Given the description of an element on the screen output the (x, y) to click on. 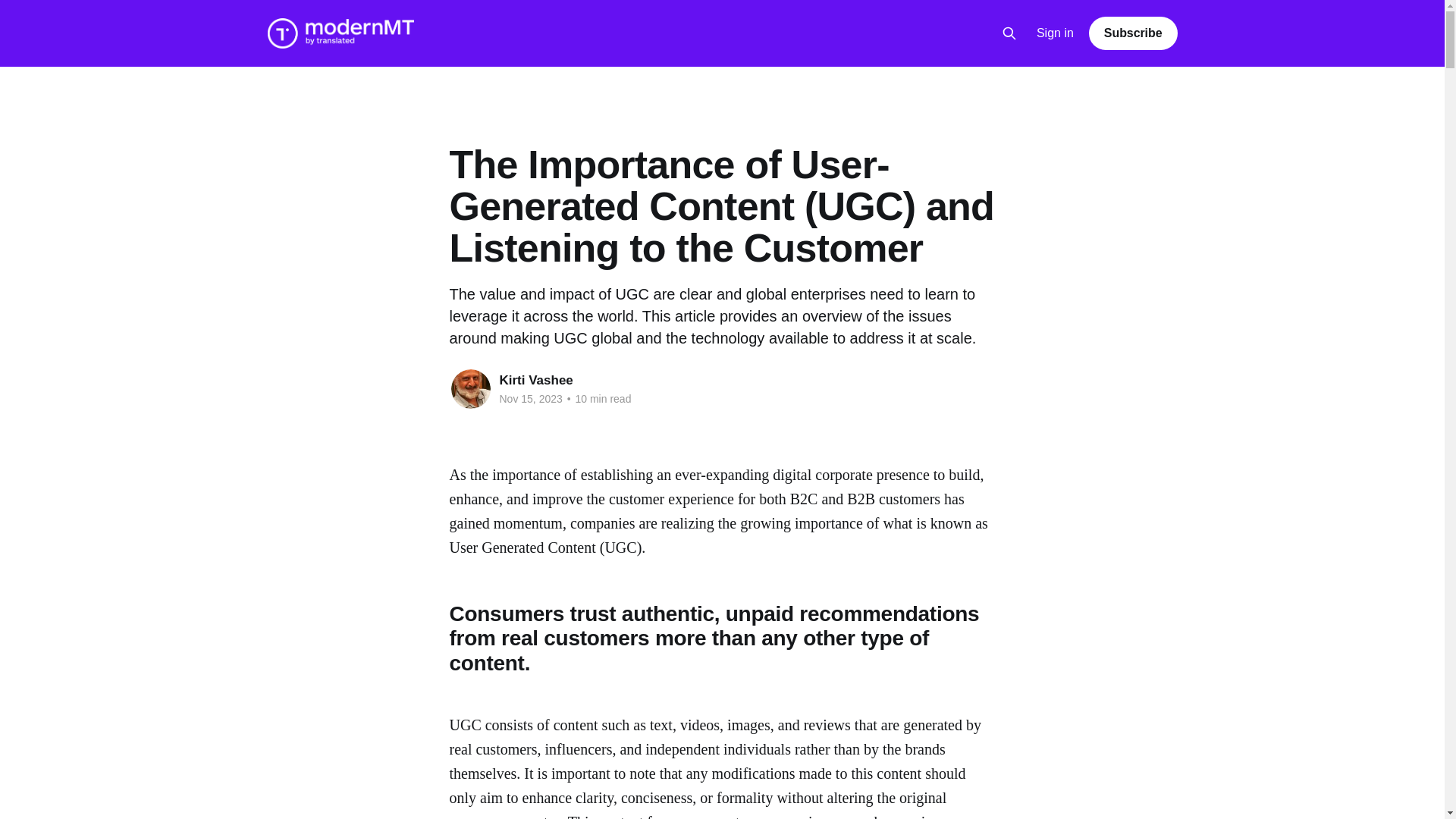
Sign in (1055, 33)
Kirti Vashee (535, 380)
Subscribe (1133, 32)
